Given the description of an element on the screen output the (x, y) to click on. 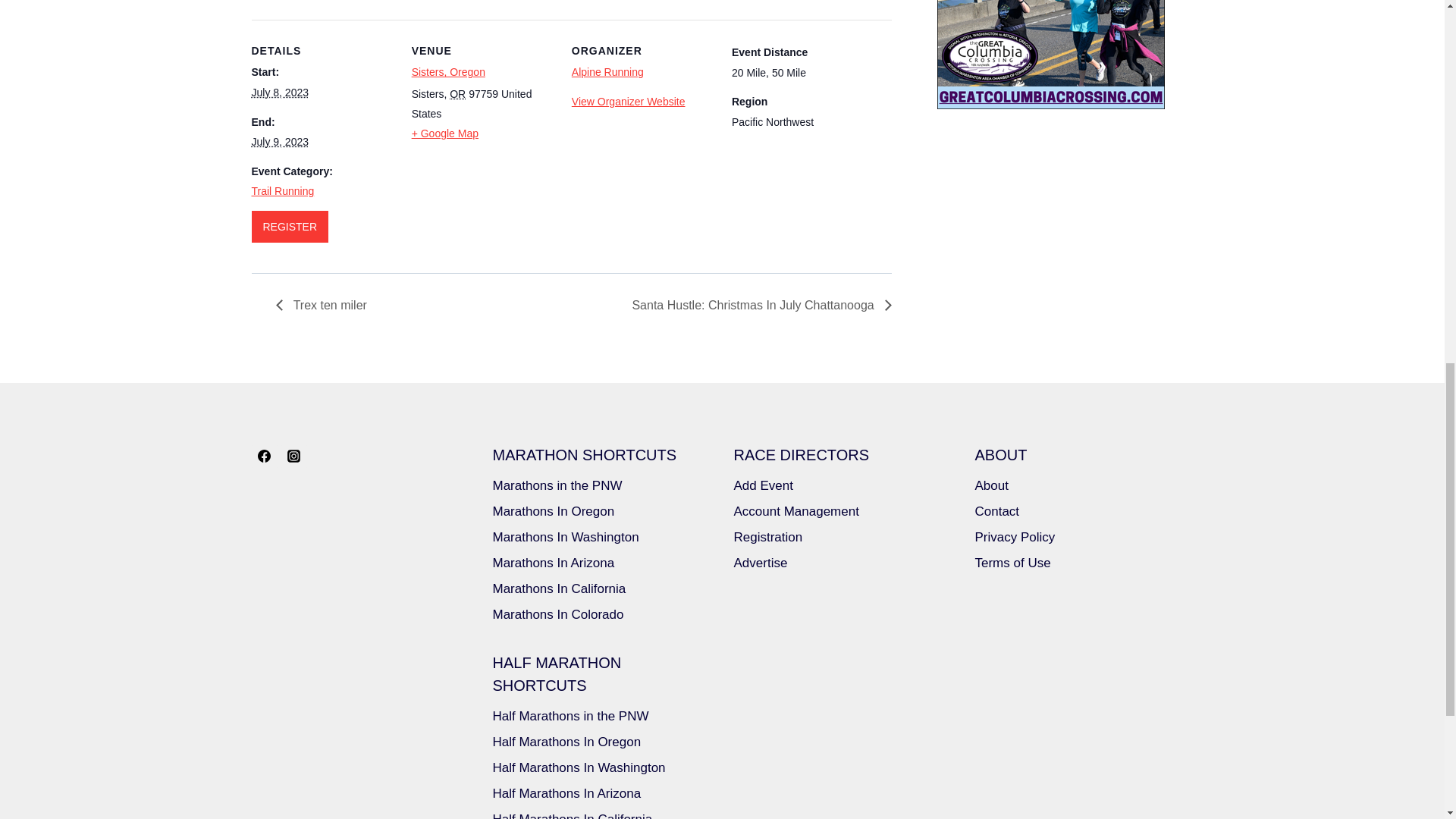
2023-07-08 (279, 92)
Sisters, Oregon (448, 71)
2023-07-09 (279, 141)
Trail Running (282, 191)
Santa Hustle: Christmas In July Chattanooga (757, 305)
Click to view a Google Map (482, 133)
Oregon (457, 93)
Alpine Running (607, 71)
Trex ten miler (325, 305)
Alpine Running (607, 71)
View Organizer Website (628, 101)
REGISTER (290, 226)
